Given the description of an element on the screen output the (x, y) to click on. 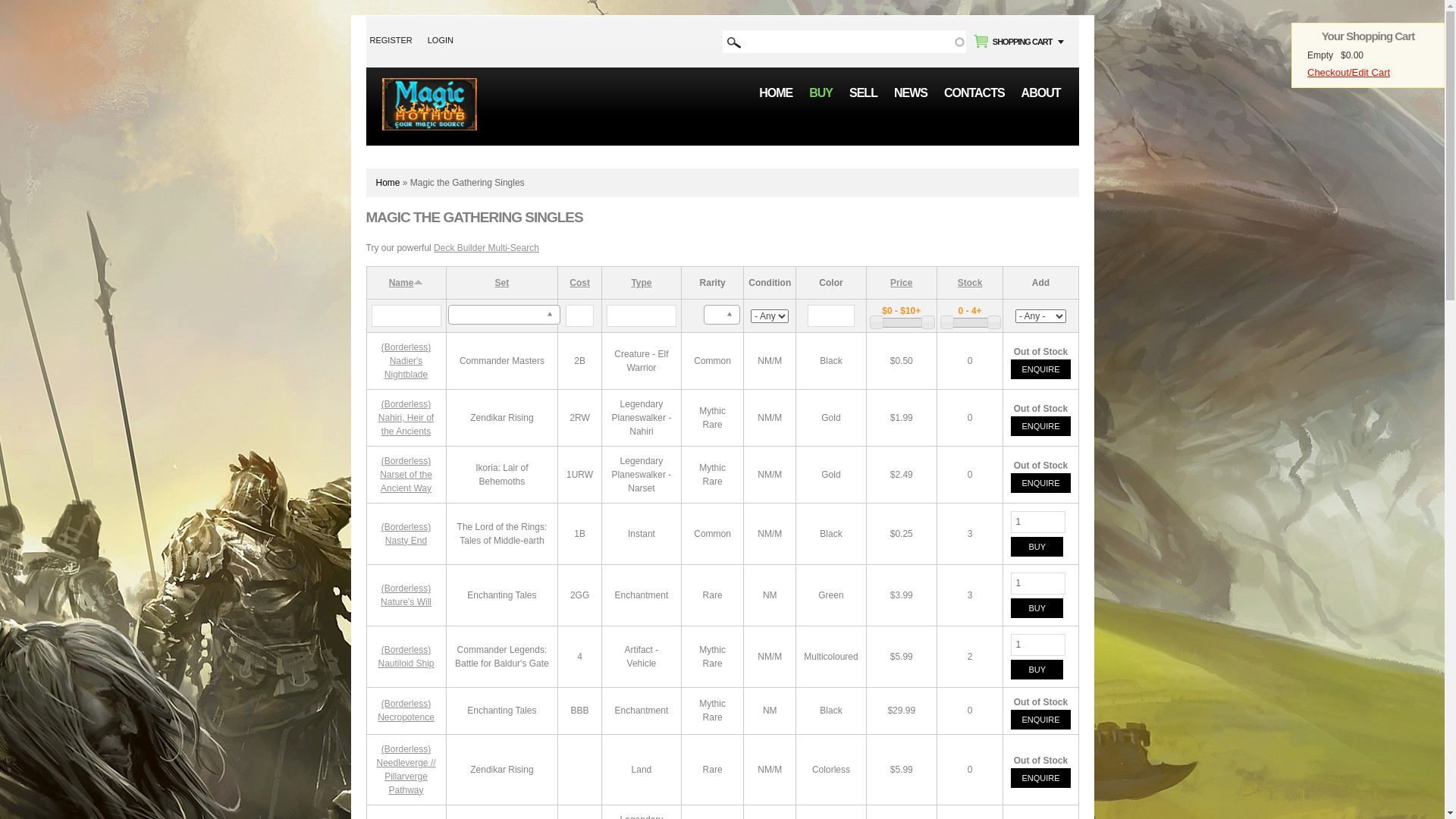
(Borderless) Needleverge // Pillarverge Pathway Element type: text (405, 769)
CONTACTS Element type: text (974, 92)
REGISTER Element type: text (391, 39)
ENQUIRE Element type: text (1040, 426)
Buy Element type: text (1036, 669)
Checkout/Edit Cart Element type: text (1348, 72)
(Borderless) Nautiloid Ship Element type: text (405, 656)
(Borderless) Narset of the Ancient Way Element type: text (405, 474)
ABOUT Element type: text (1040, 92)
ENQUIRE Element type: text (1040, 719)
Home Element type: hover (429, 84)
(Borderless) Nadier's Nightblade Element type: text (405, 360)
BUY Element type: text (820, 92)
Type Element type: text (640, 282)
Buy Element type: text (1036, 608)
Set Element type: text (502, 282)
Buy Element type: text (1036, 546)
HOME Element type: text (775, 92)
Apply Element type: text (734, 42)
ENQUIRE Element type: text (1040, 369)
Stock Element type: text (969, 282)
(Borderless) Nasty End Element type: text (405, 533)
Home Element type: text (386, 182)
ENQUIRE Element type: text (1040, 482)
Deck Builder Multi-Search Element type: text (486, 247)
SELL Element type: text (863, 92)
LOGIN Element type: text (440, 39)
(Borderless) Necropotence Element type: text (405, 710)
(Borderless) Nahiri, Heir of the Ancients Element type: text (405, 417)
sort descending Element type: hover (418, 280)
Name Element type: text (406, 282)
(Borderless) Nature's Will Element type: text (405, 595)
NEWS Element type: text (910, 92)
ENQUIRE Element type: text (1040, 777)
Cost Element type: text (579, 282)
Price Element type: text (901, 282)
